Given the description of an element on the screen output the (x, y) to click on. 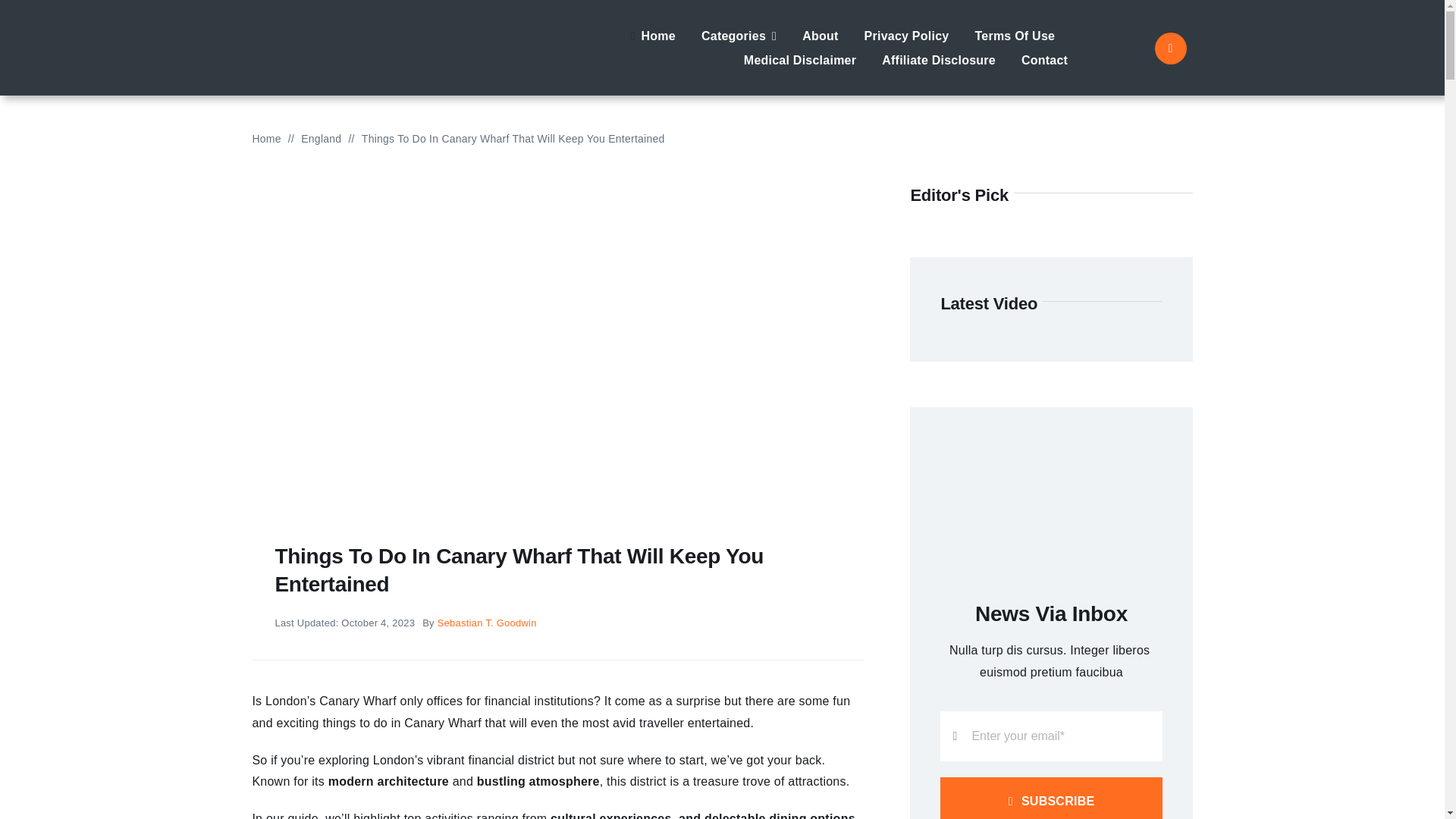
Contact (1044, 59)
Home (266, 138)
About (820, 35)
Home (649, 35)
Categories (738, 35)
England (320, 138)
Terms Of Use (1014, 35)
Posts by Sebastian T. Goodwin (487, 622)
Sebastian T. Goodwin (487, 622)
SUBSCRIBE (1050, 758)
